Given the description of an element on the screen output the (x, y) to click on. 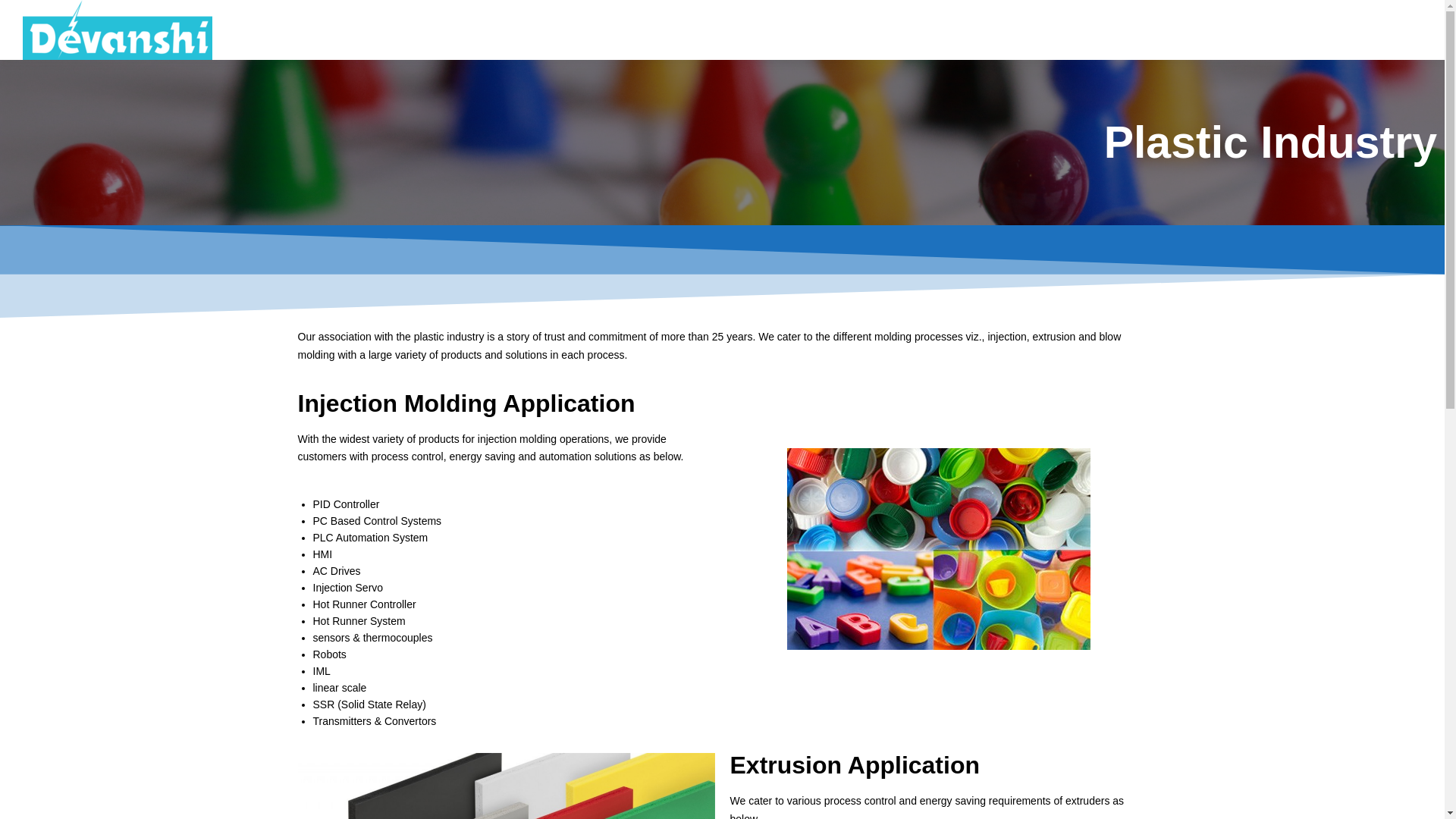
PRODUCTS (931, 28)
HOME (775, 28)
ABOUT US (846, 28)
